Given the description of an element on the screen output the (x, y) to click on. 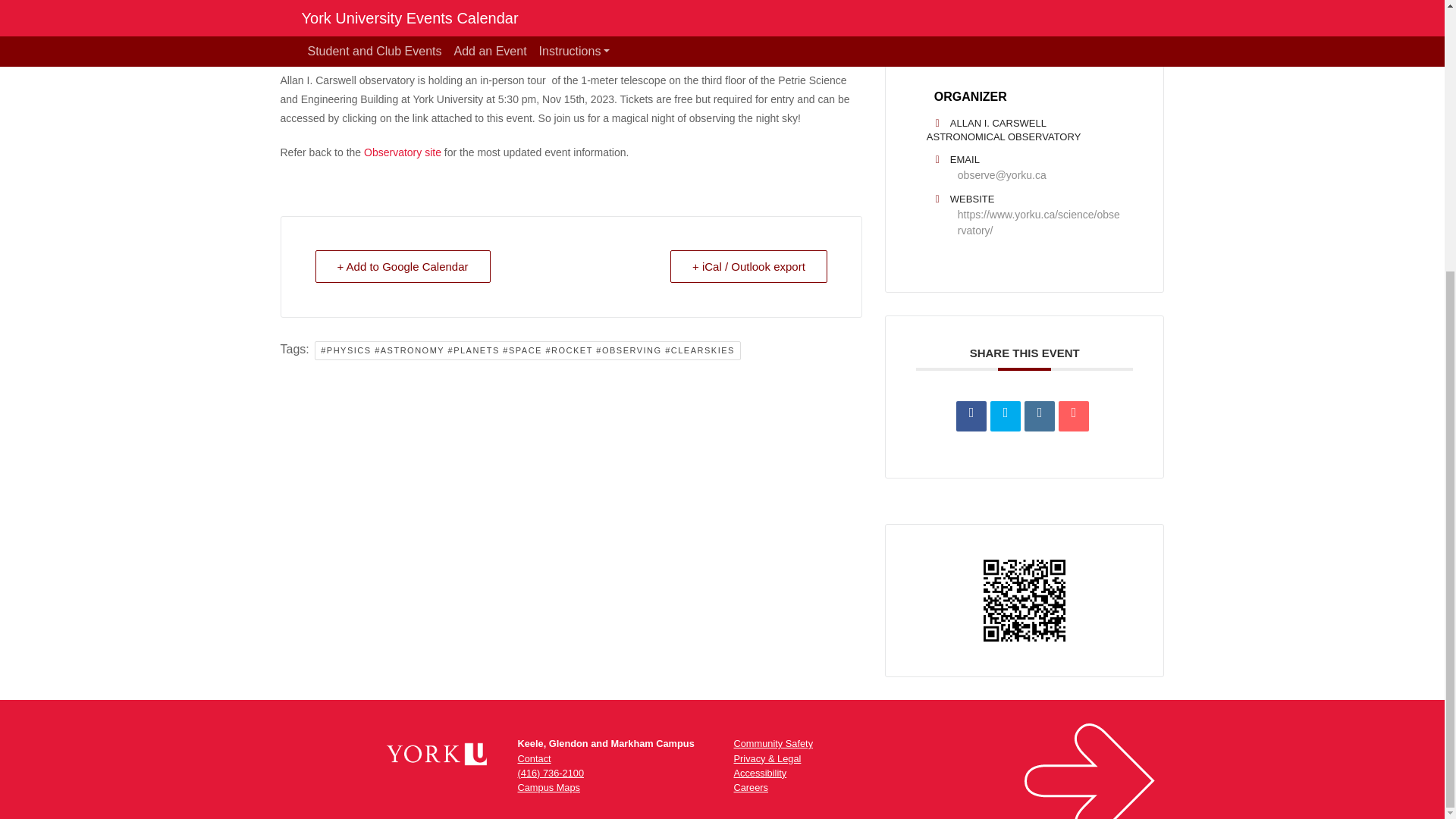
Tweet (1005, 416)
Contact (533, 757)
Linkedin (1039, 416)
Share on Facebook (971, 416)
Bethune College (997, 13)
Campus Maps (547, 787)
Faculty of Science (1001, 43)
Observatory site (401, 152)
Email (1073, 416)
